Given the description of an element on the screen output the (x, y) to click on. 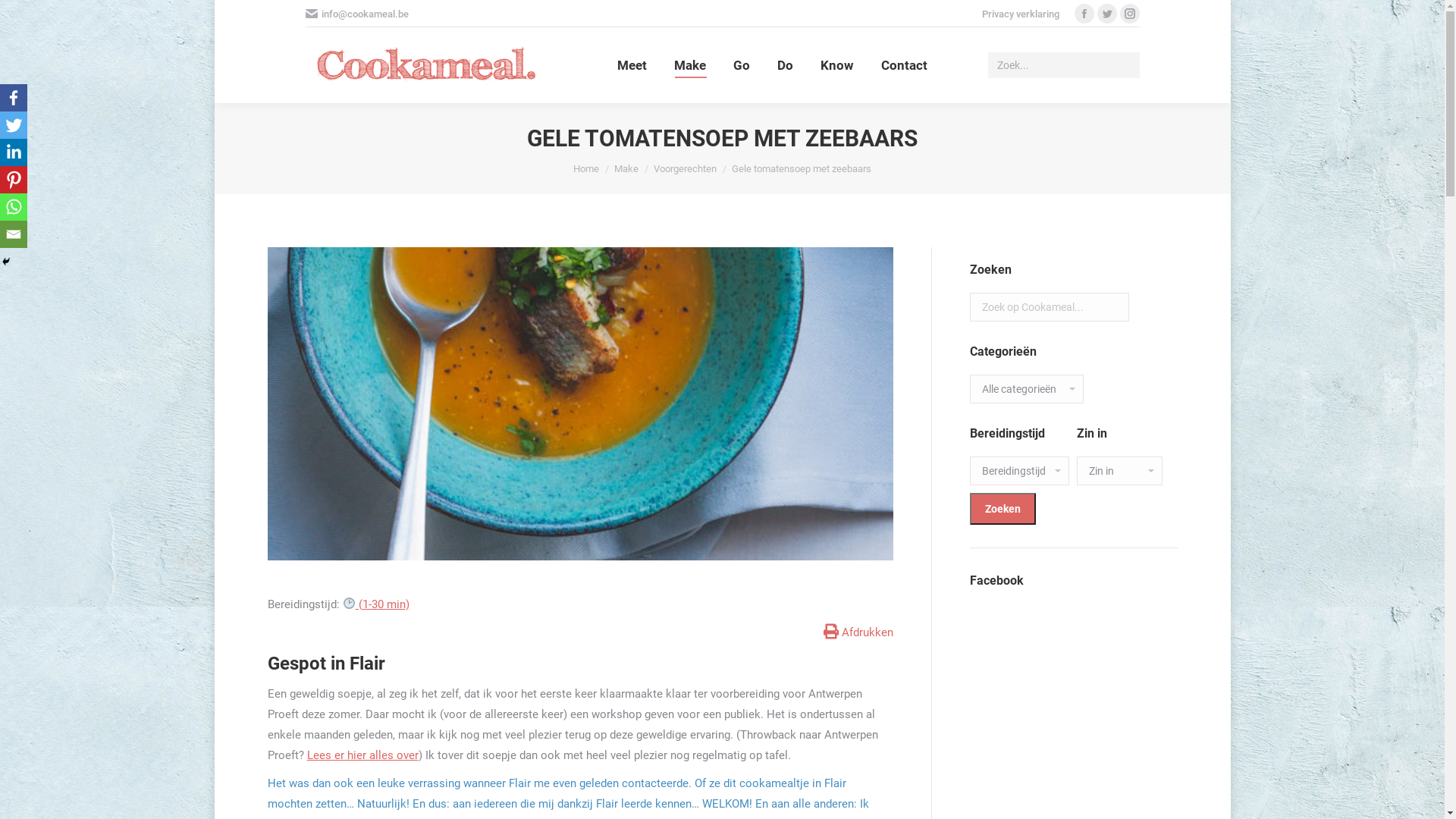
Whatsapp Element type: hover (13, 206)
Contact Element type: text (904, 64)
Email Element type: hover (13, 233)
Facebook page opens in new window Element type: text (1083, 13)
Instagram page opens in new window Element type: text (1129, 13)
Make Element type: text (626, 168)
Privacy verklaring Element type: text (1019, 13)
(1-30 min) Element type: text (375, 604)
Reactie plaatsen Element type: text (56, 15)
Home Element type: text (586, 168)
Linkedin Element type: hover (13, 152)
Twitter page opens in new window Element type: text (1106, 13)
Hide Element type: hover (6, 261)
Zoeken Element type: text (1002, 508)
Do Element type: text (785, 64)
Lees er hier alles over Element type: text (361, 754)
Go! Element type: text (23, 15)
soepje-main Element type: hover (579, 403)
Twitter Element type: hover (13, 124)
Make Element type: text (690, 64)
Facebook Element type: hover (13, 97)
Search form Element type: hover (1063, 65)
Meet Element type: text (631, 64)
Know Element type: text (836, 64)
Go Element type: text (741, 64)
Voorgerechten Element type: text (684, 168)
Pinterest Element type: hover (13, 179)
